Given the description of an element on the screen output the (x, y) to click on. 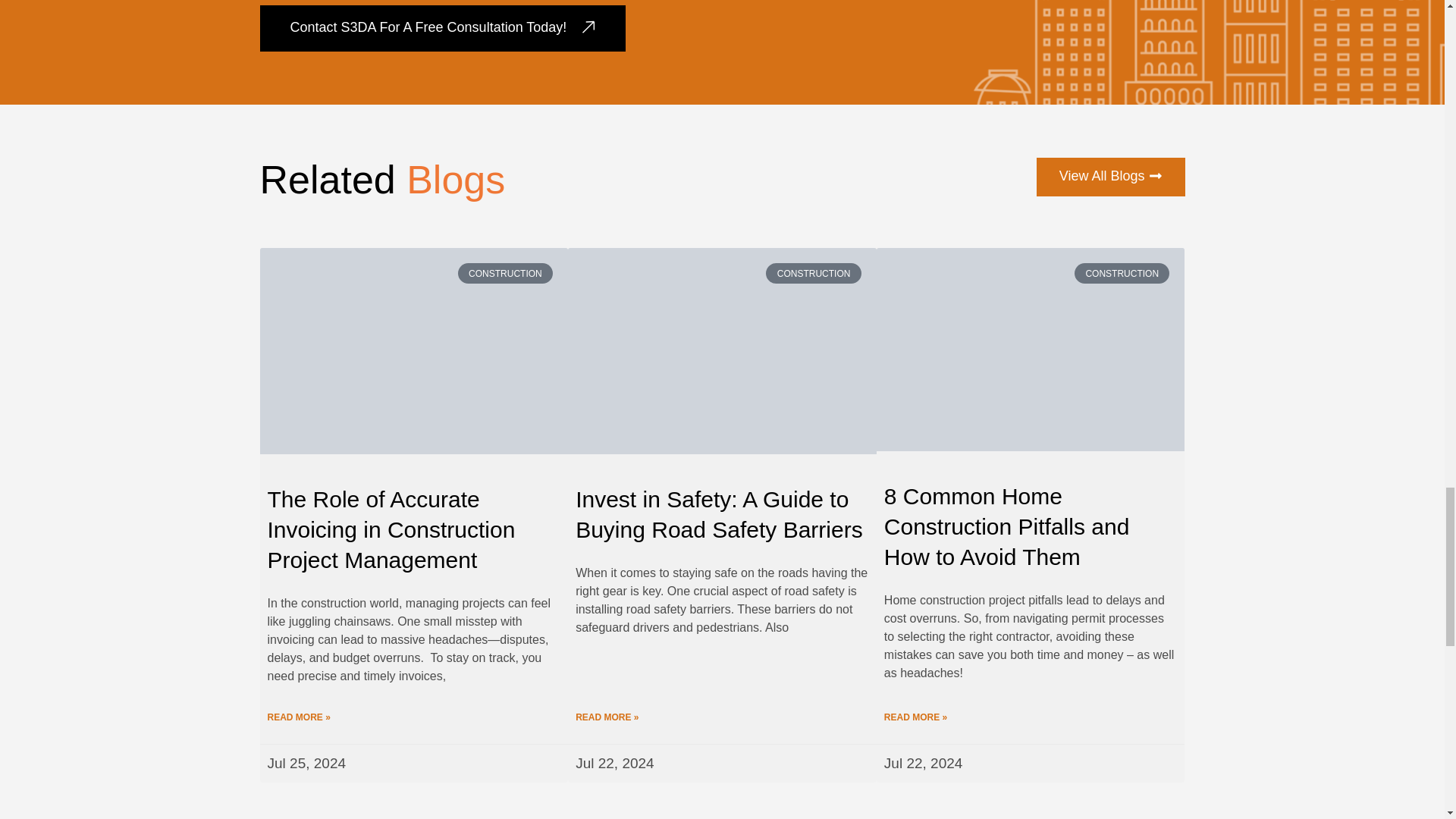
View All Blogs (1110, 177)
Contact S3DA For A Free Consultation Today! (442, 27)
